Given the description of an element on the screen output the (x, y) to click on. 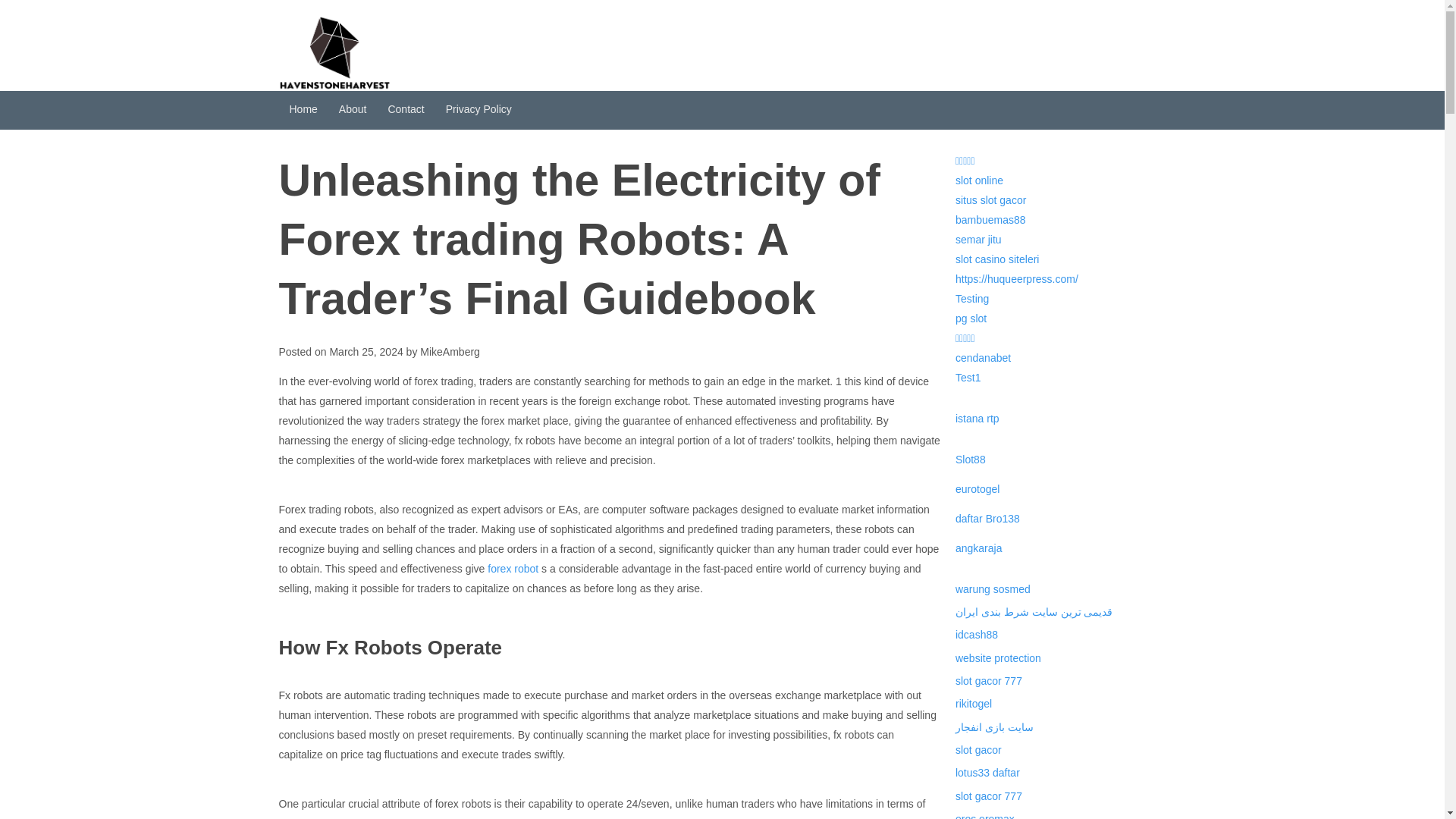
idcash88 (976, 634)
About (353, 109)
bambuemas88 (990, 219)
pg slot (971, 318)
lotus33 daftar (987, 772)
daftar Bro138 (987, 518)
Home (304, 109)
March 25, 2024 (366, 351)
situs slot gacor (990, 200)
Test1 (967, 377)
